Given the description of an element on the screen output the (x, y) to click on. 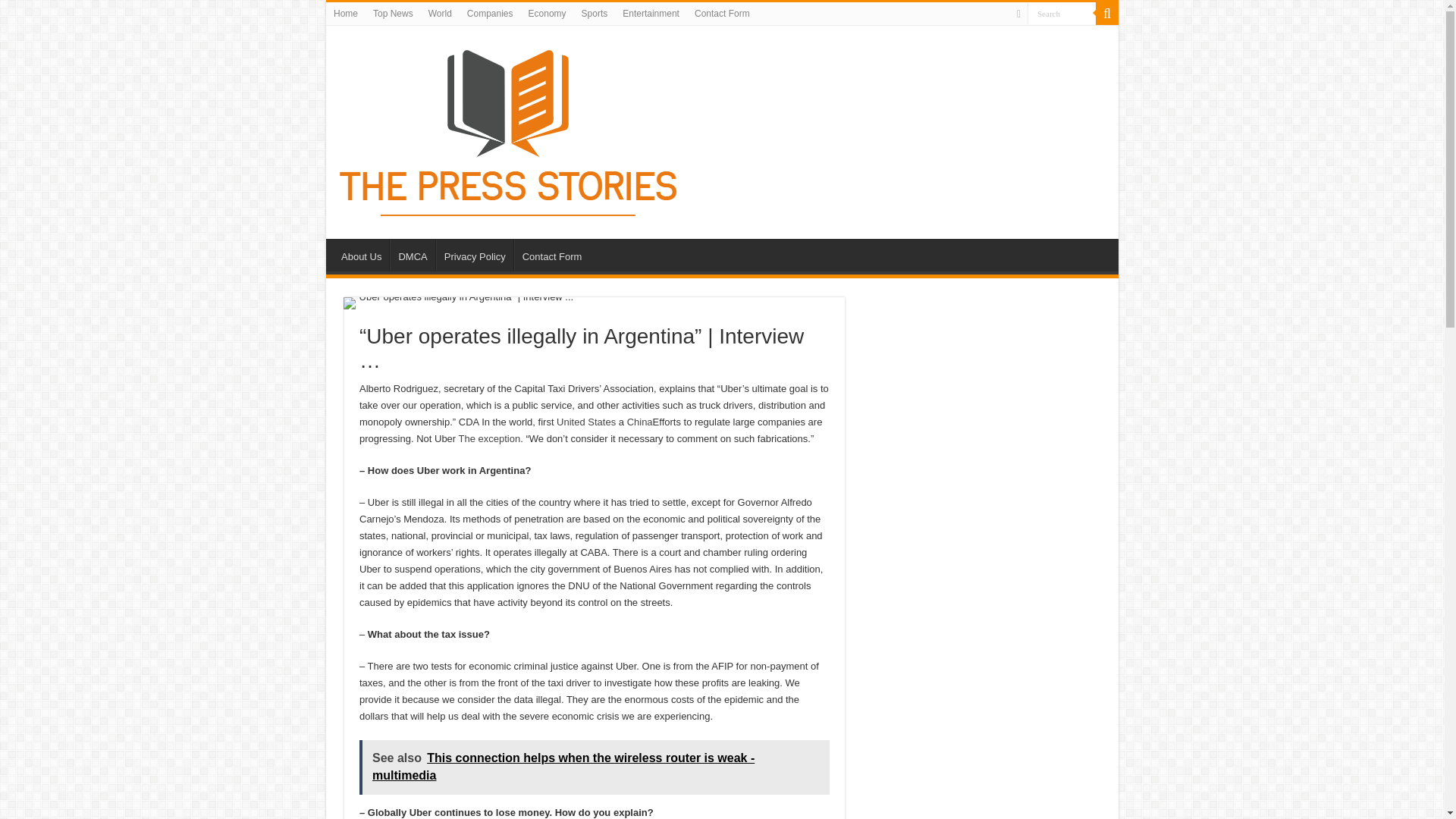
World (440, 13)
Entertainment (650, 13)
Home (345, 13)
Contact Form (722, 13)
United States (585, 421)
The exception (489, 438)
Companies (490, 13)
Search (1061, 13)
Search (1061, 13)
